Given the description of an element on the screen output the (x, y) to click on. 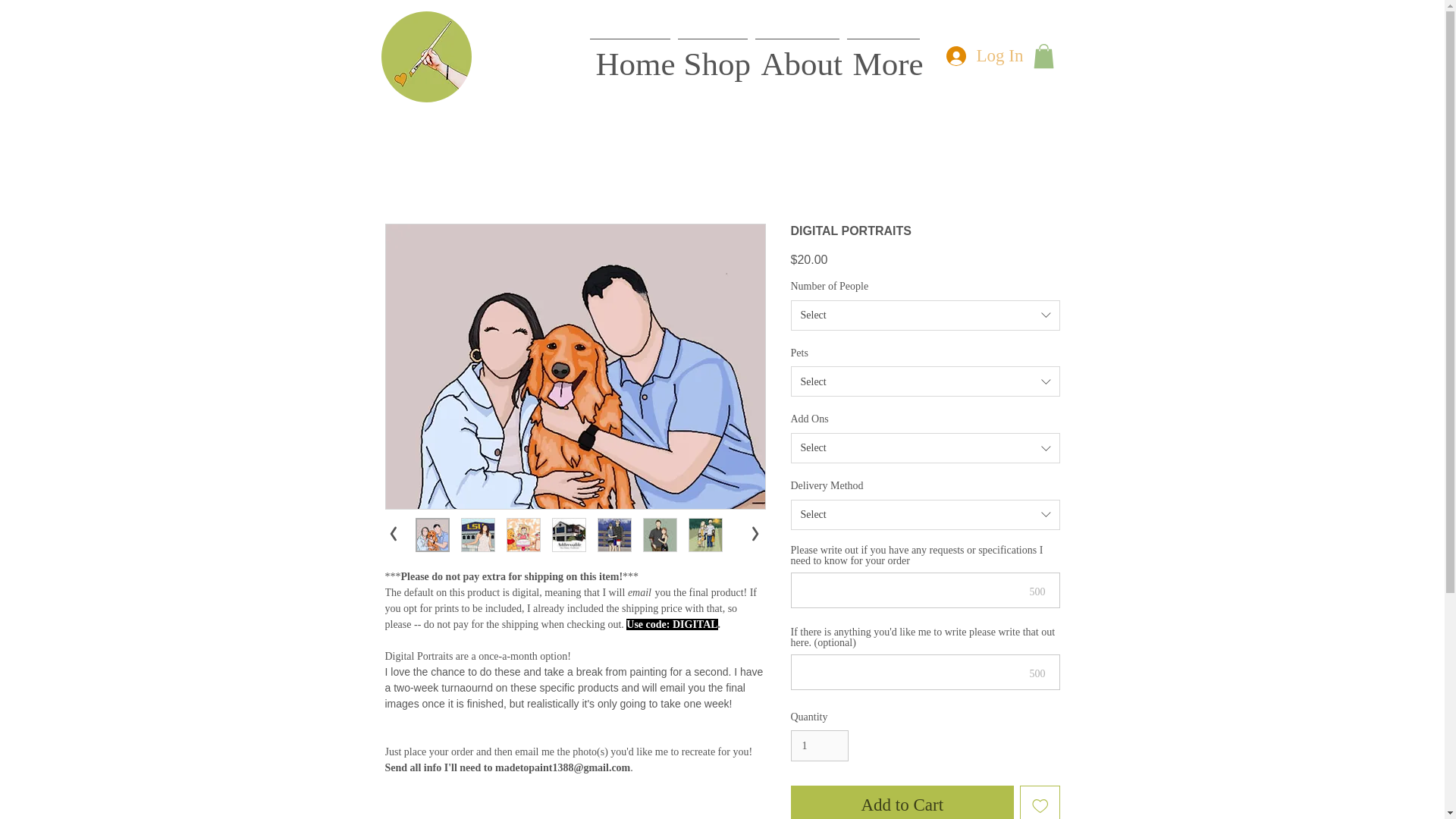
Select (924, 448)
About (797, 57)
1 (818, 745)
Shop (711, 57)
Select (924, 315)
Log In (981, 56)
Select (924, 381)
Home (628, 57)
Select (924, 514)
Add to Cart (901, 802)
